Given the description of an element on the screen output the (x, y) to click on. 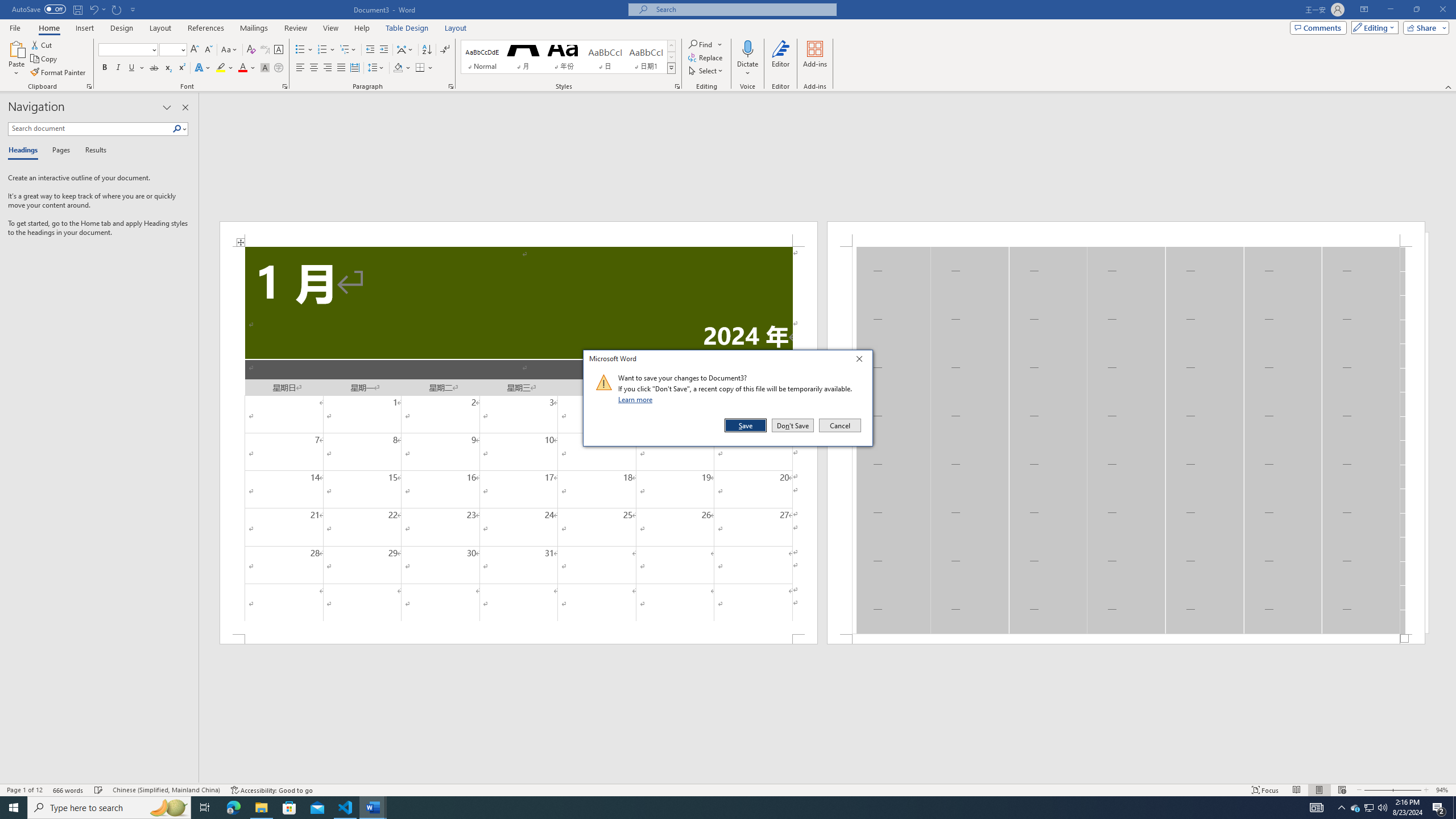
Start (13, 807)
Task View (204, 807)
Action Center, 2 new notifications (1439, 807)
